Given the description of an element on the screen output the (x, y) to click on. 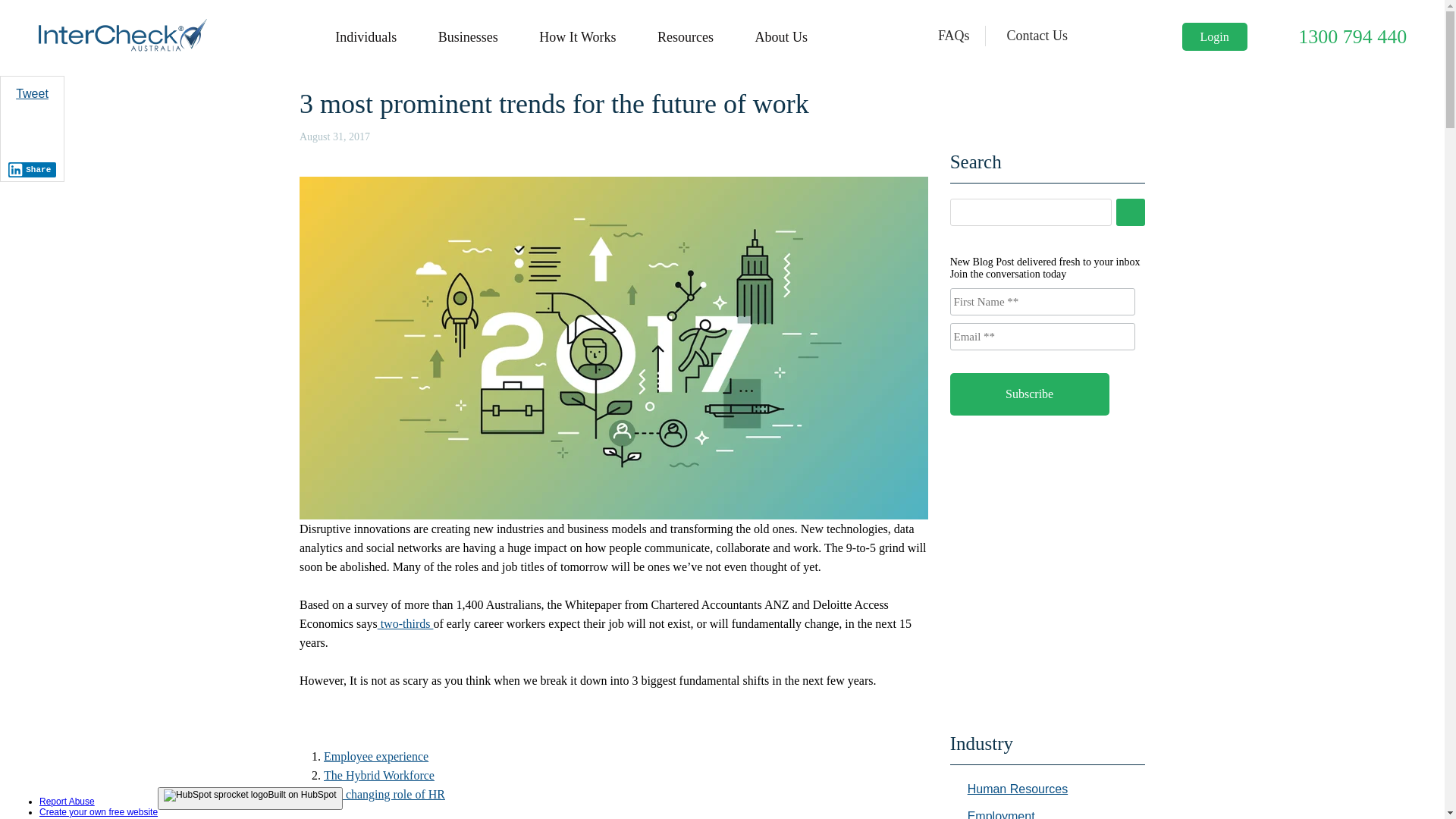
1300 794 440 Element type: text (1352, 36)
Contact Us Element type: text (1036, 35)
Share Element type: text (32, 169)
The changing role of HR Element type: text (384, 793)
Tweet Element type: text (31, 93)
Subscribe Element type: text (1029, 394)
Human Resources Element type: text (1017, 788)
About Us Element type: text (780, 37)
The Hybrid Workforce Element type: text (378, 774)
Login Element type: text (1214, 36)
How It Works Element type: text (577, 37)
two-thirds Element type: text (405, 623)
Employee experience Element type: text (375, 755)
Individuals Element type: text (365, 37)
FAQs Element type: text (953, 35)
Businesses Element type: text (468, 37)
Resources Element type: text (685, 37)
